Given the description of an element on the screen output the (x, y) to click on. 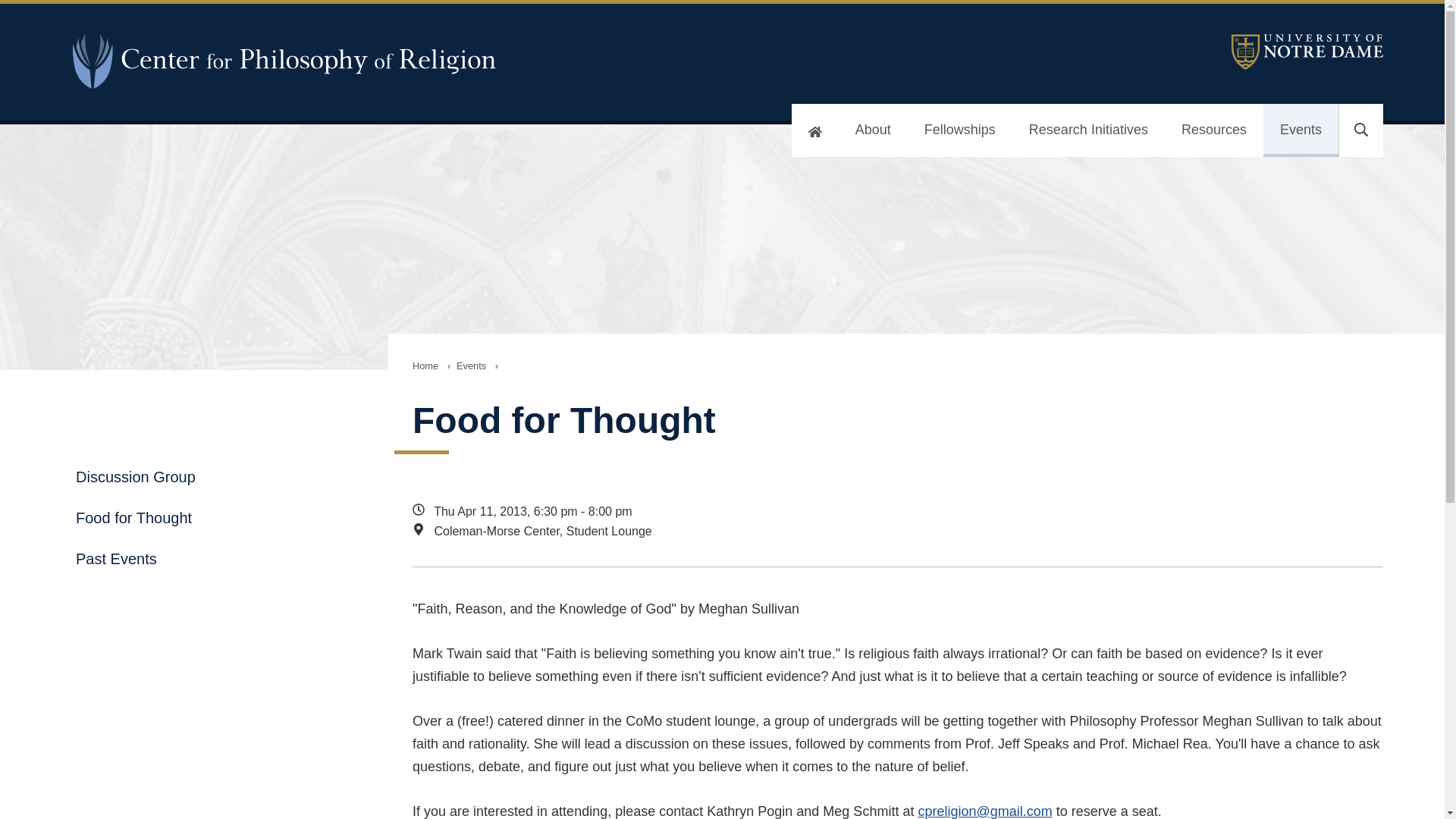
Thu Apr 11, 2013  6:30 pm -  8:00 pm (806, 511)
About (872, 130)
Home (425, 365)
Resources (1213, 130)
Research Initiatives (1087, 130)
Fellowships (959, 130)
Center for Philosophy of Religion (290, 61)
Events (1300, 130)
Events (470, 365)
University of Notre Dame (1307, 51)
